Given the description of an element on the screen output the (x, y) to click on. 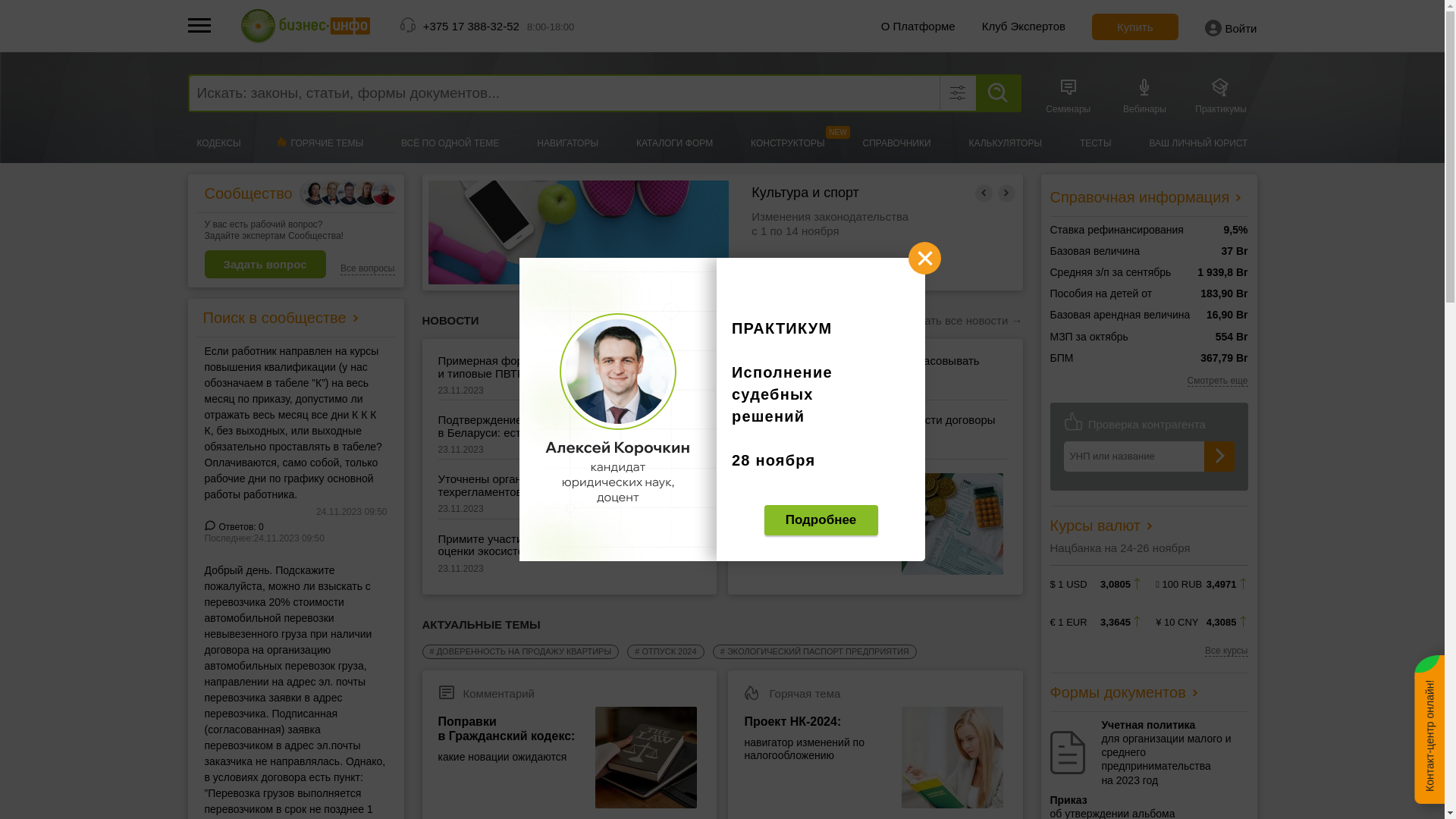
Next Element type: text (1006, 192)
4 Element type: text (744, 305)
Previous Element type: text (983, 192)
+375 17 388-32-52 Element type: text (471, 25)
5 Element type: text (767, 305)
1 Element type: text (676, 305)
2 Element type: text (698, 305)
3 Element type: text (721, 305)
